Given the description of an element on the screen output the (x, y) to click on. 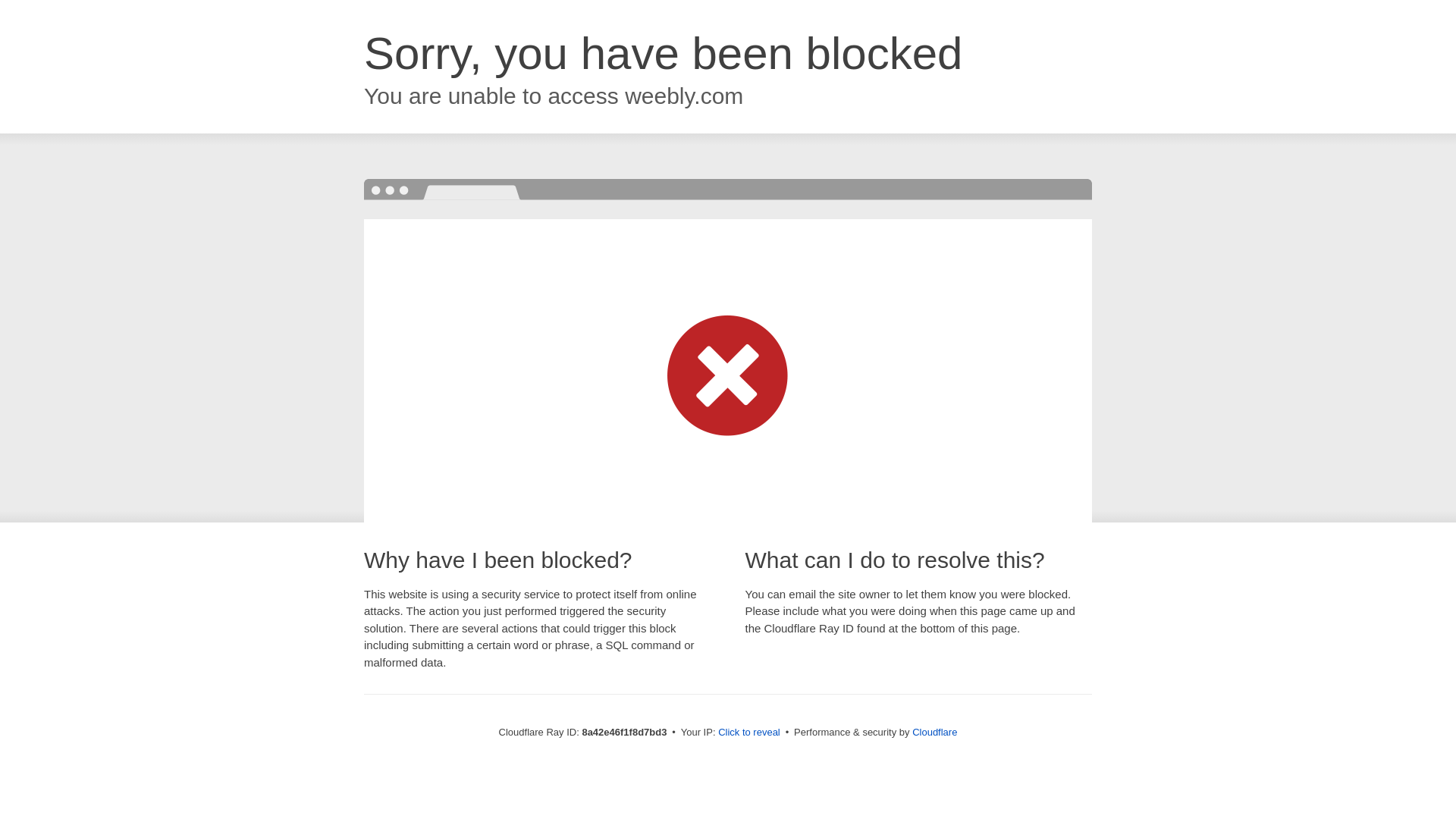
Click to reveal (748, 732)
Cloudflare (934, 731)
